Given the description of an element on the screen output the (x, y) to click on. 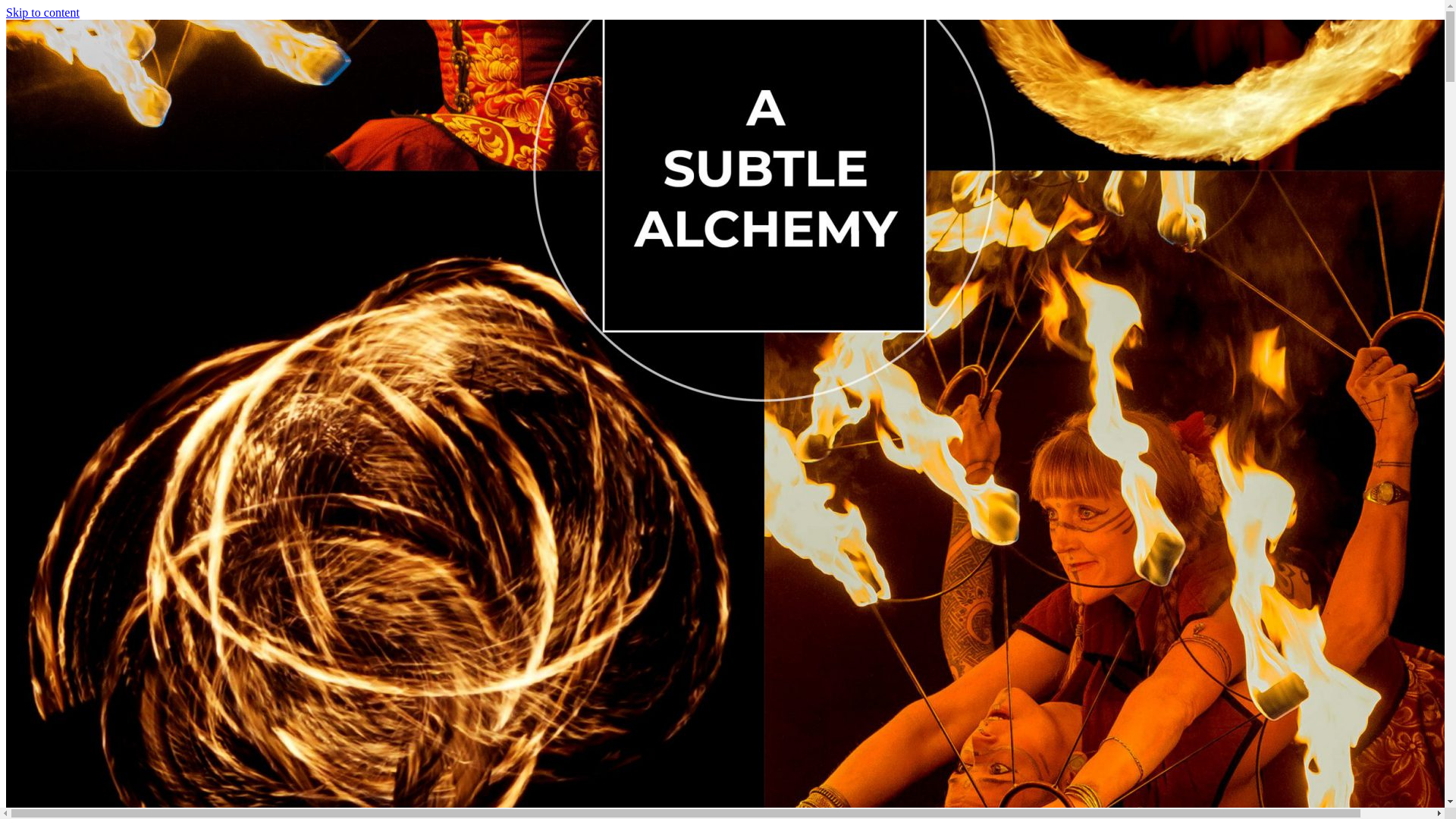
Skip to content Element type: text (42, 12)
